Given the description of an element on the screen output the (x, y) to click on. 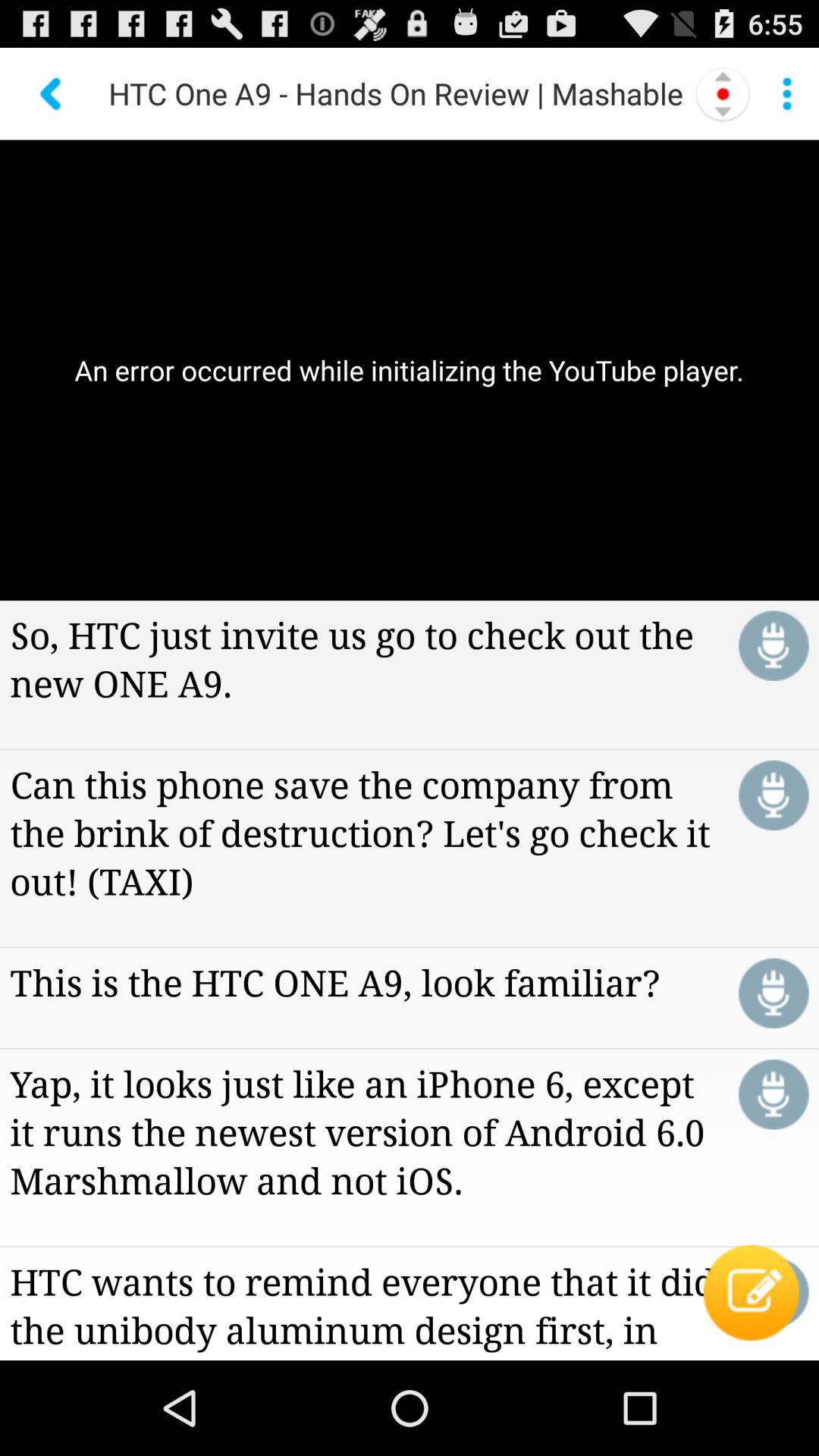
turn on item to the left of the htc one a9 icon (52, 93)
